Given the description of an element on the screen output the (x, y) to click on. 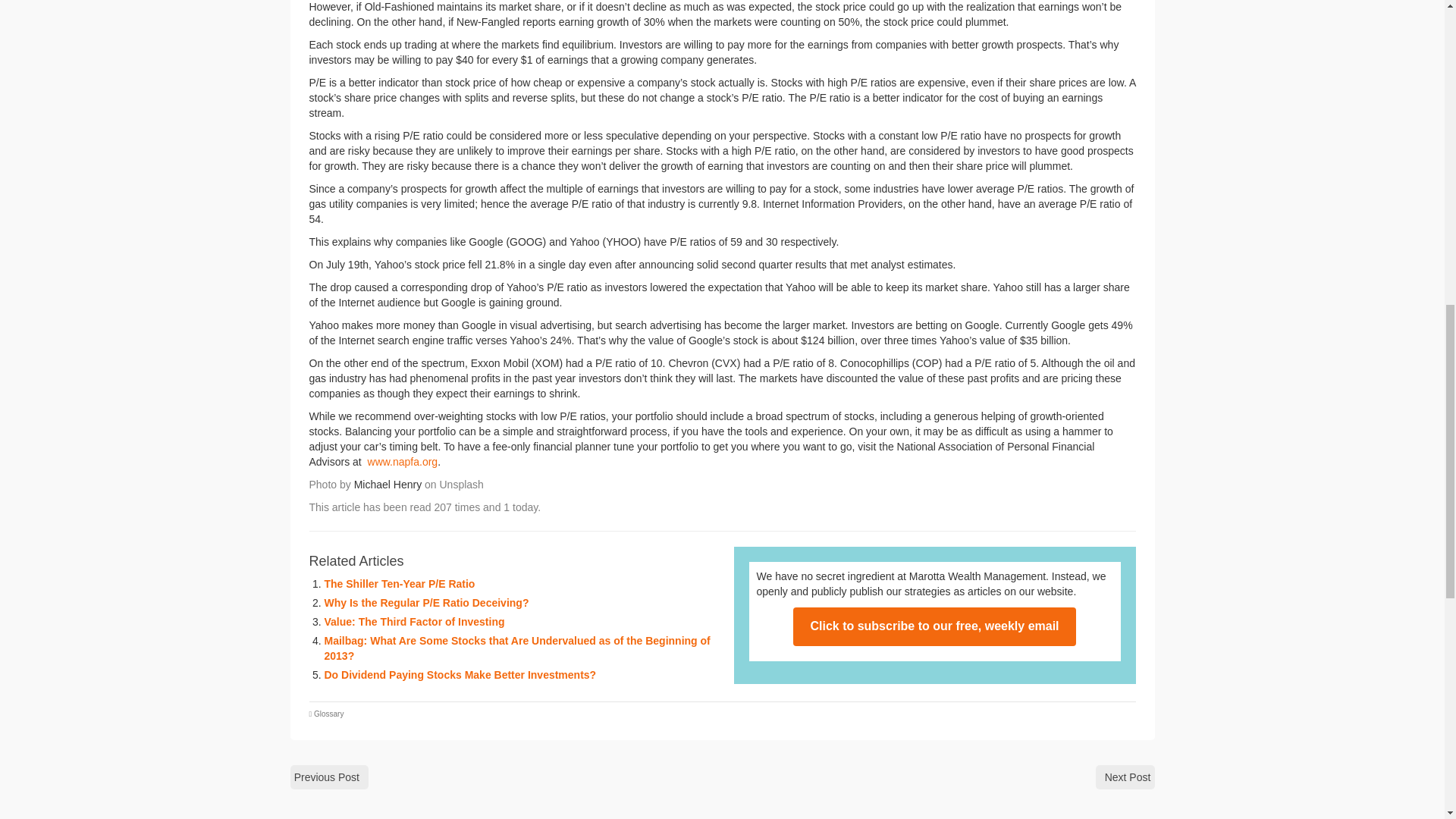
Value: The Third Factor of Investing (414, 621)
Do Dividend Paying Stocks Make Better Investments? (460, 674)
